Given the description of an element on the screen output the (x, y) to click on. 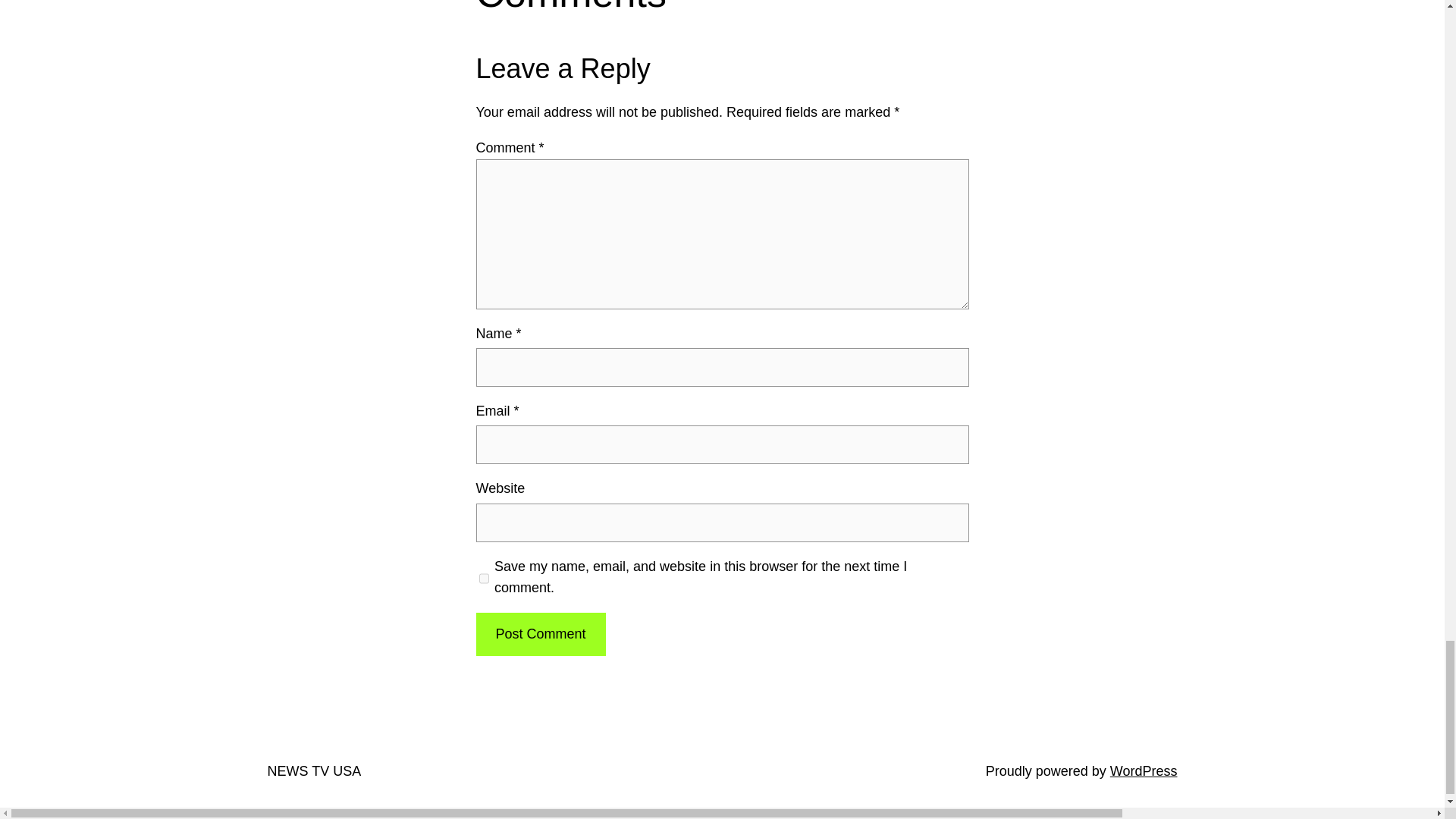
Post Comment (540, 634)
